Given the description of an element on the screen output the (x, y) to click on. 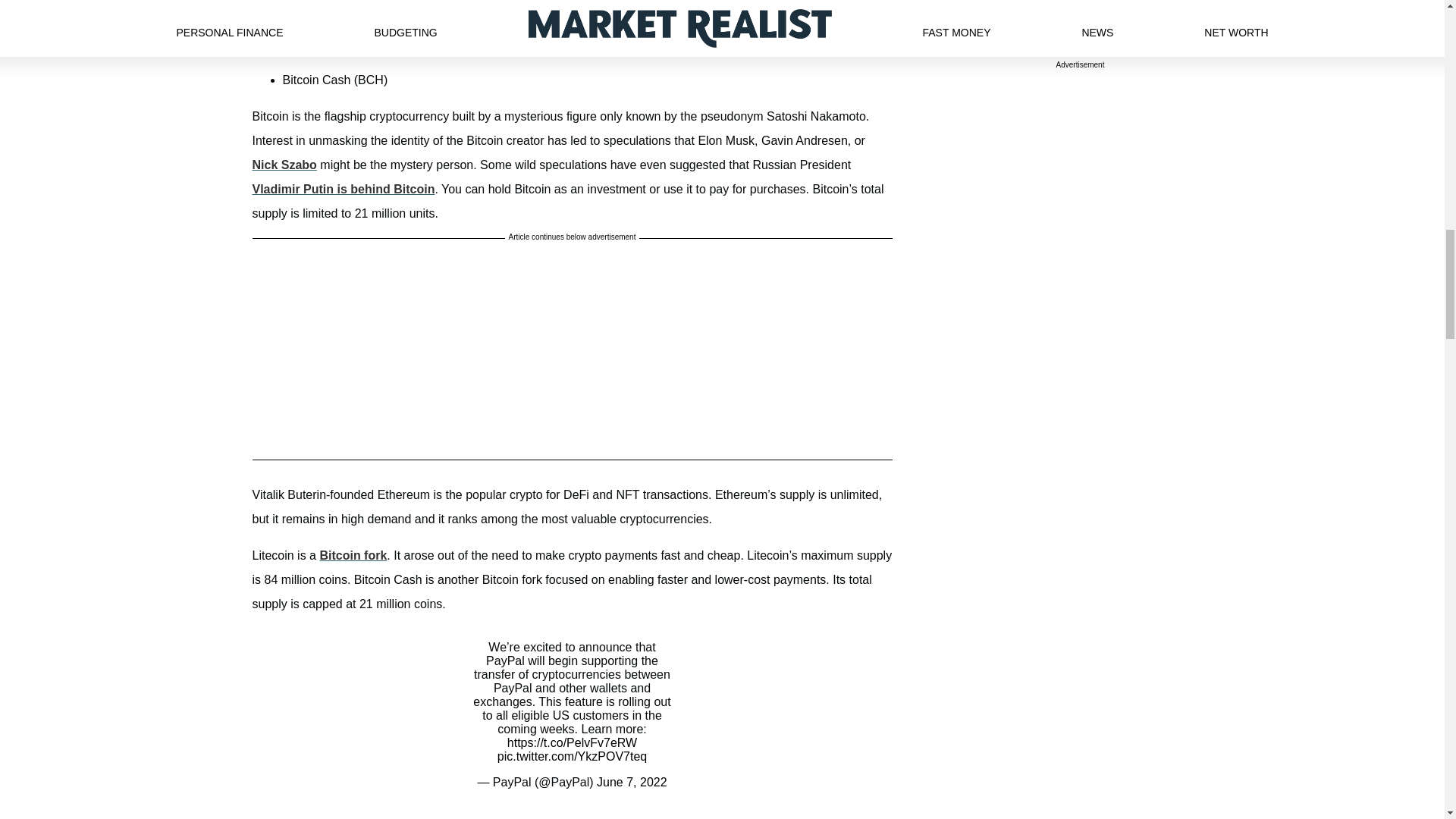
Nick Szabo (283, 164)
Vladimir Putin is behind Bitcoin (342, 188)
June 7, 2022 (631, 781)
Bitcoin fork (352, 554)
